Given the description of an element on the screen output the (x, y) to click on. 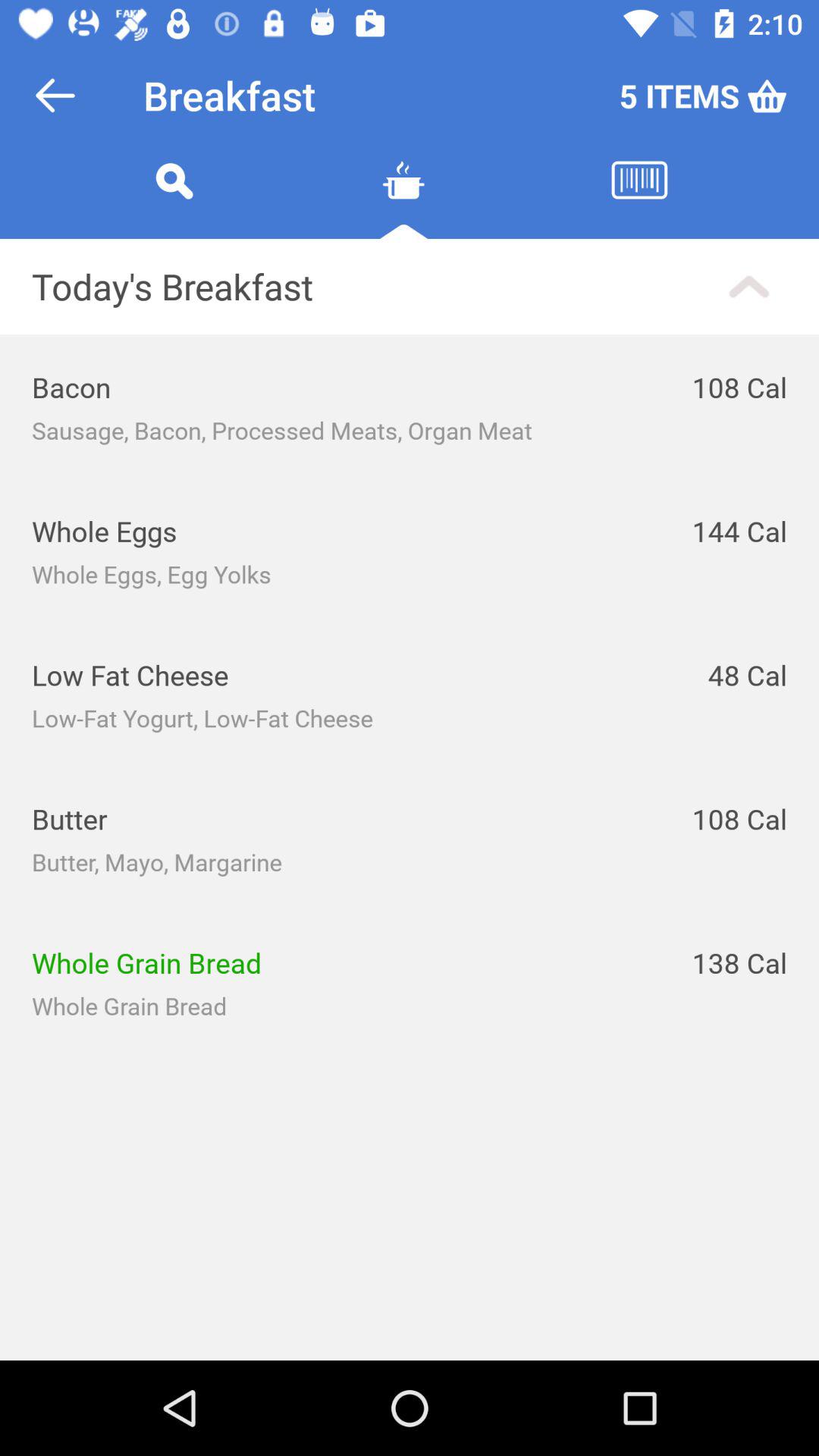
go to menu (403, 198)
